Given the description of an element on the screen output the (x, y) to click on. 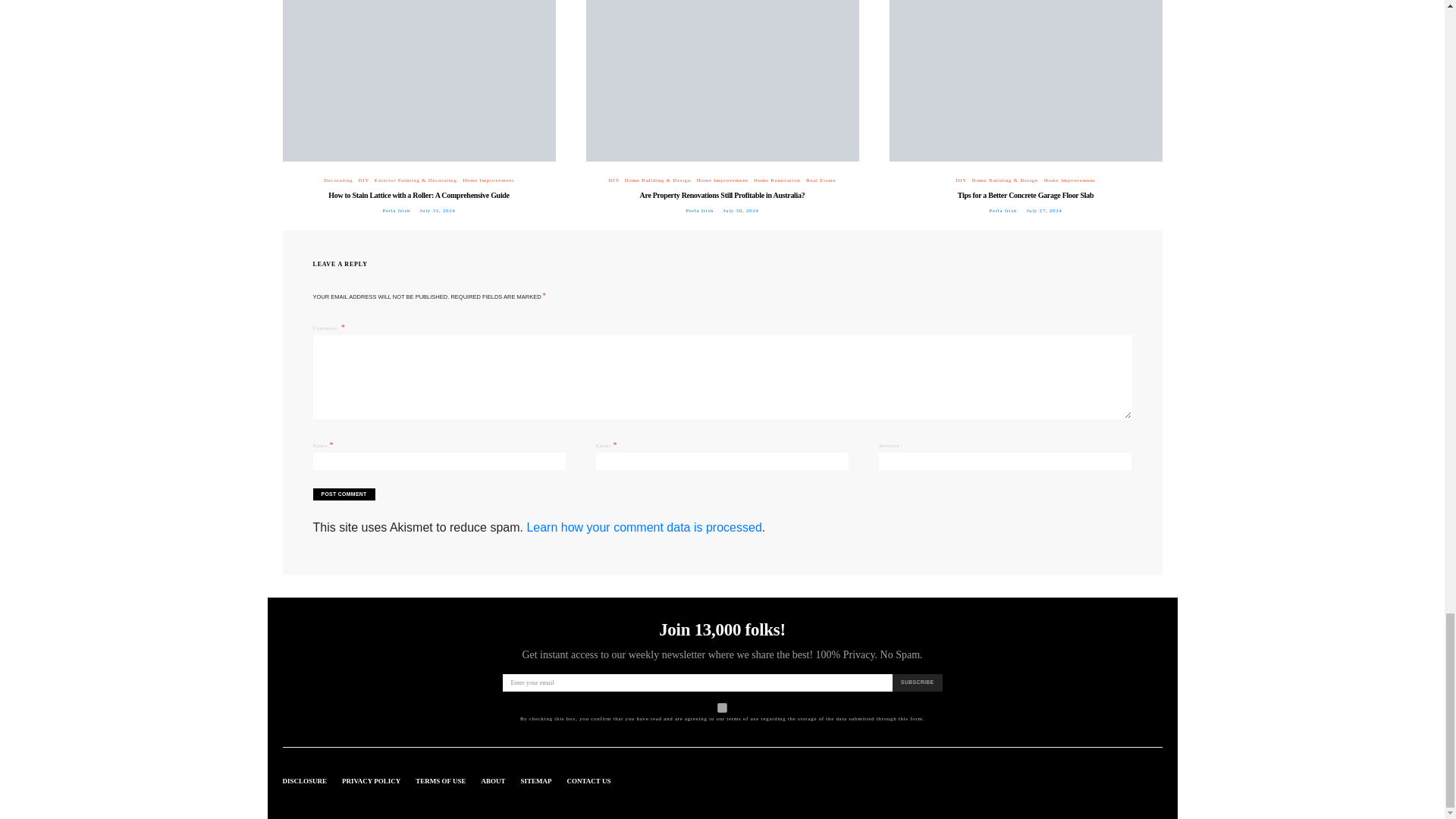
Post Comment (343, 494)
View all posts by Perla Irish (1002, 210)
on (722, 707)
View all posts by Perla Irish (395, 210)
View all posts by Perla Irish (699, 210)
